Given the description of an element on the screen output the (x, y) to click on. 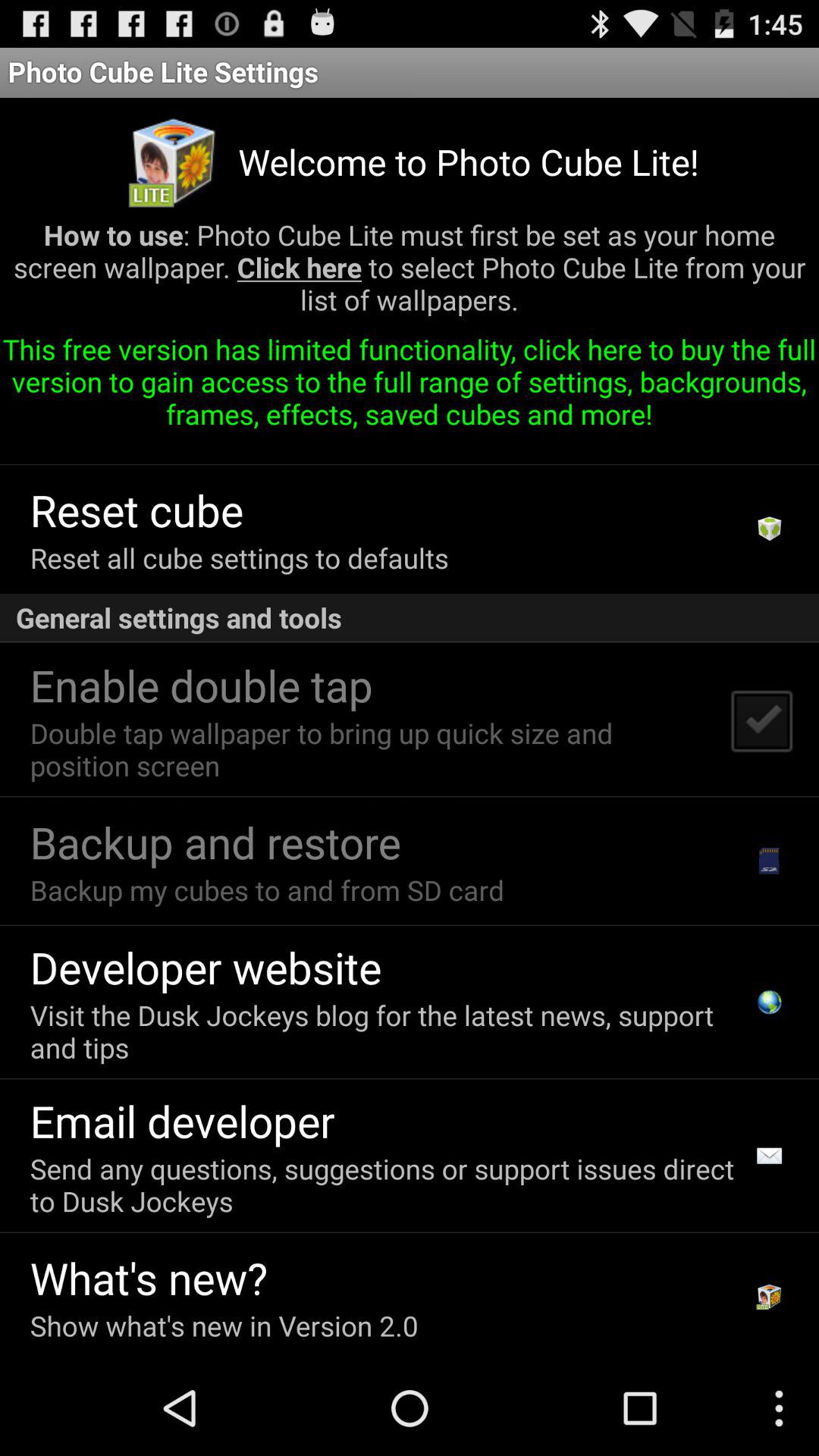
tap app next to double tap wallpaper app (761, 719)
